Given the description of an element on the screen output the (x, y) to click on. 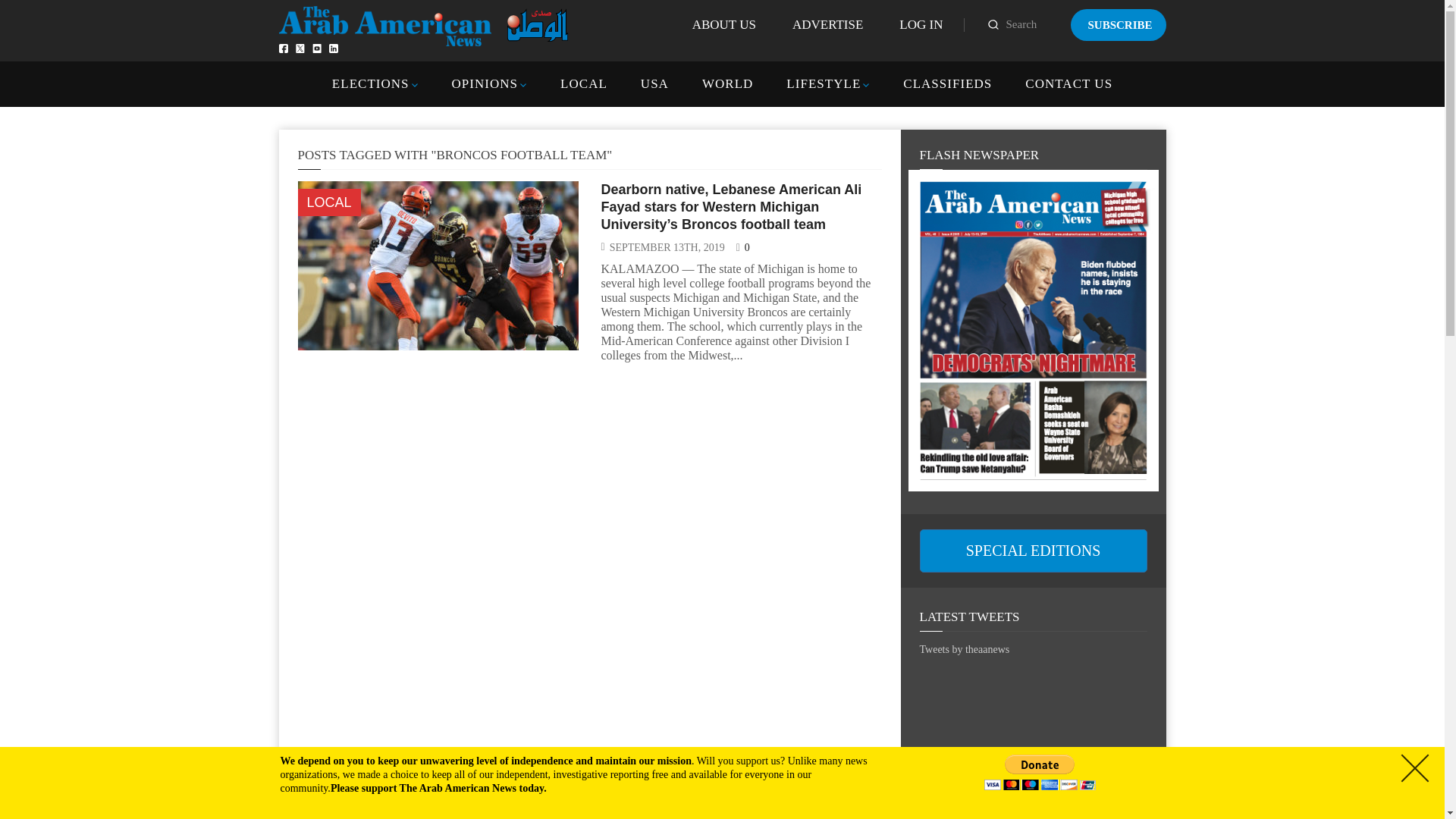
ADVERTISE (827, 24)
LOCAL (328, 202)
OPINIONS (484, 83)
PayPal - The safer, easier way to pay online! (1040, 772)
ELECTIONS (370, 83)
ABOUT US (724, 24)
SUBSCRIBE (1118, 24)
LIFESTYLE (823, 83)
CLASSIFIEDS (946, 83)
LOG IN (920, 24)
WORLD (726, 83)
CONTACT US (1068, 83)
LOCAL (583, 83)
3rd party ad content (1032, 749)
USA (654, 83)
